Given the description of an element on the screen output the (x, y) to click on. 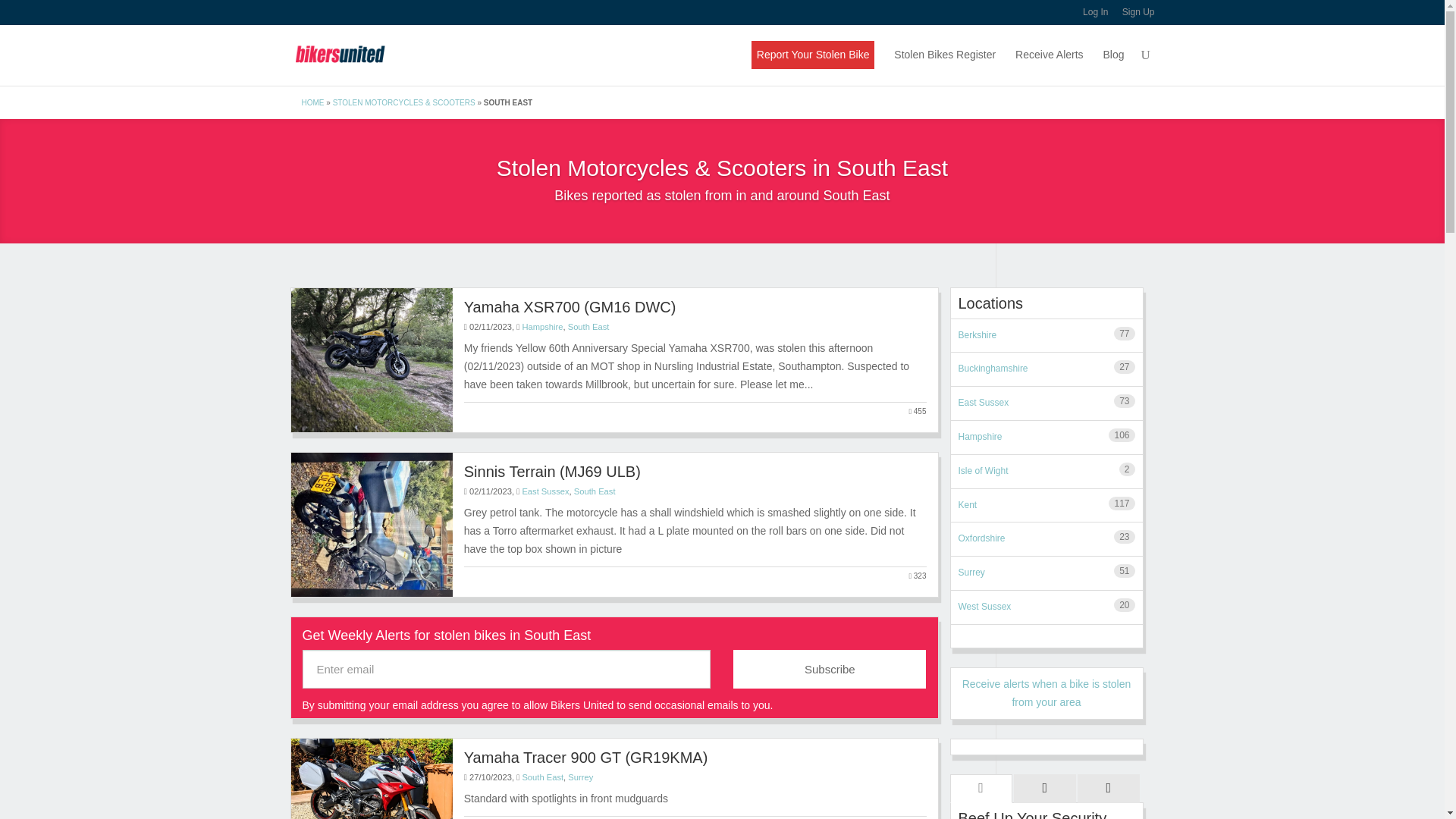
455 (917, 411)
Report Your Stolen Bike (813, 54)
1,172 (914, 817)
Log In (1095, 16)
South East (588, 326)
323 (917, 576)
Surrey (579, 777)
HOME (312, 102)
Receive Alerts (1048, 65)
Sign Up (1138, 16)
Hampshire (541, 326)
South East (594, 491)
Stolen Bikes Register (944, 65)
South East (542, 777)
Subscribe (829, 669)
